Given the description of an element on the screen output the (x, y) to click on. 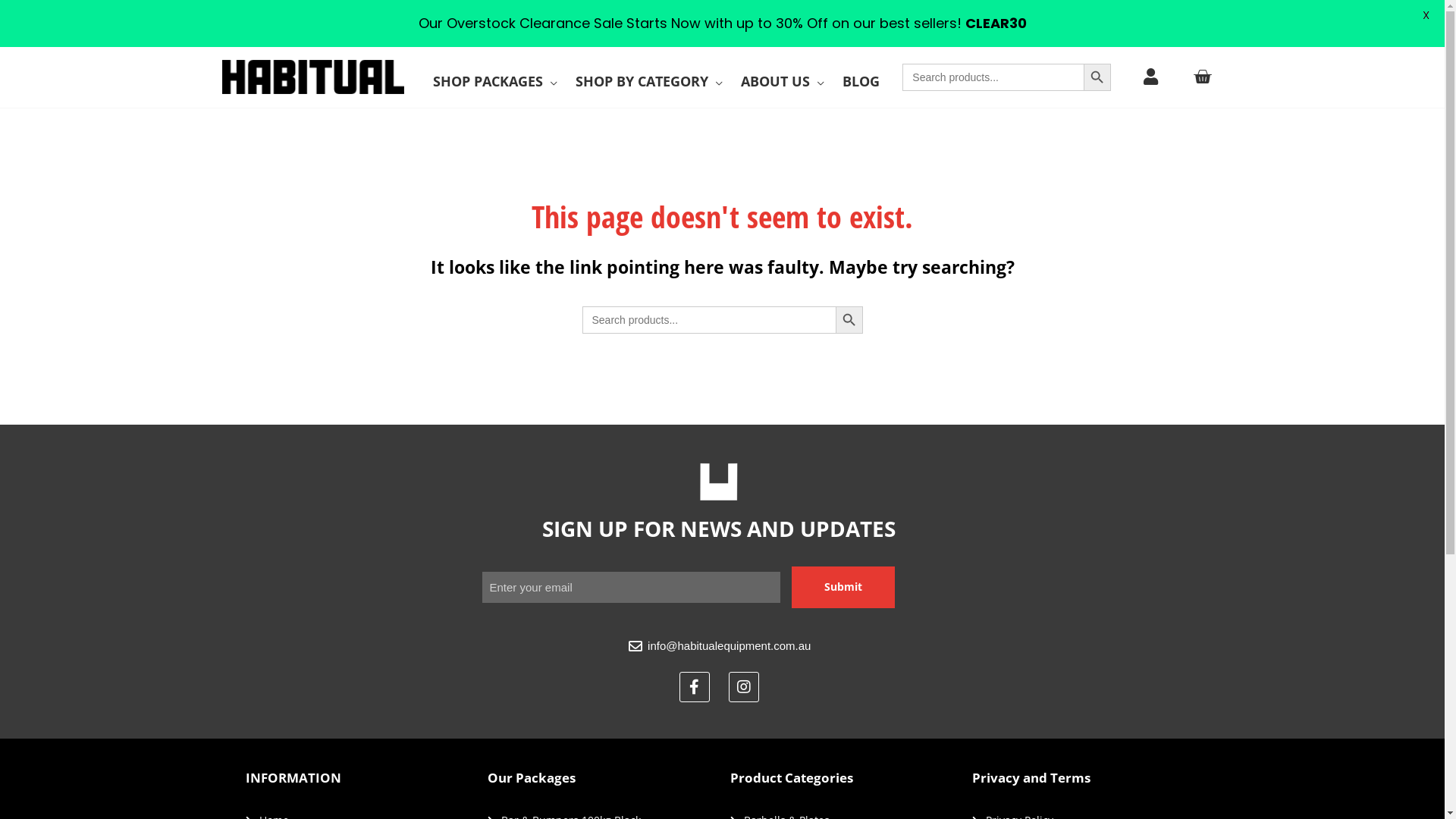
Search Button Element type: text (1096, 77)
ABOUT US Element type: text (782, 81)
SHOP PACKAGES Element type: text (494, 81)
info@habitualequipment.com.au Element type: text (719, 645)
Submit Element type: text (842, 587)
BLOG Element type: text (860, 81)
SHOP BY CATEGORY Element type: text (648, 81)
Search Button Element type: text (848, 319)
